Given the description of an element on the screen output the (x, y) to click on. 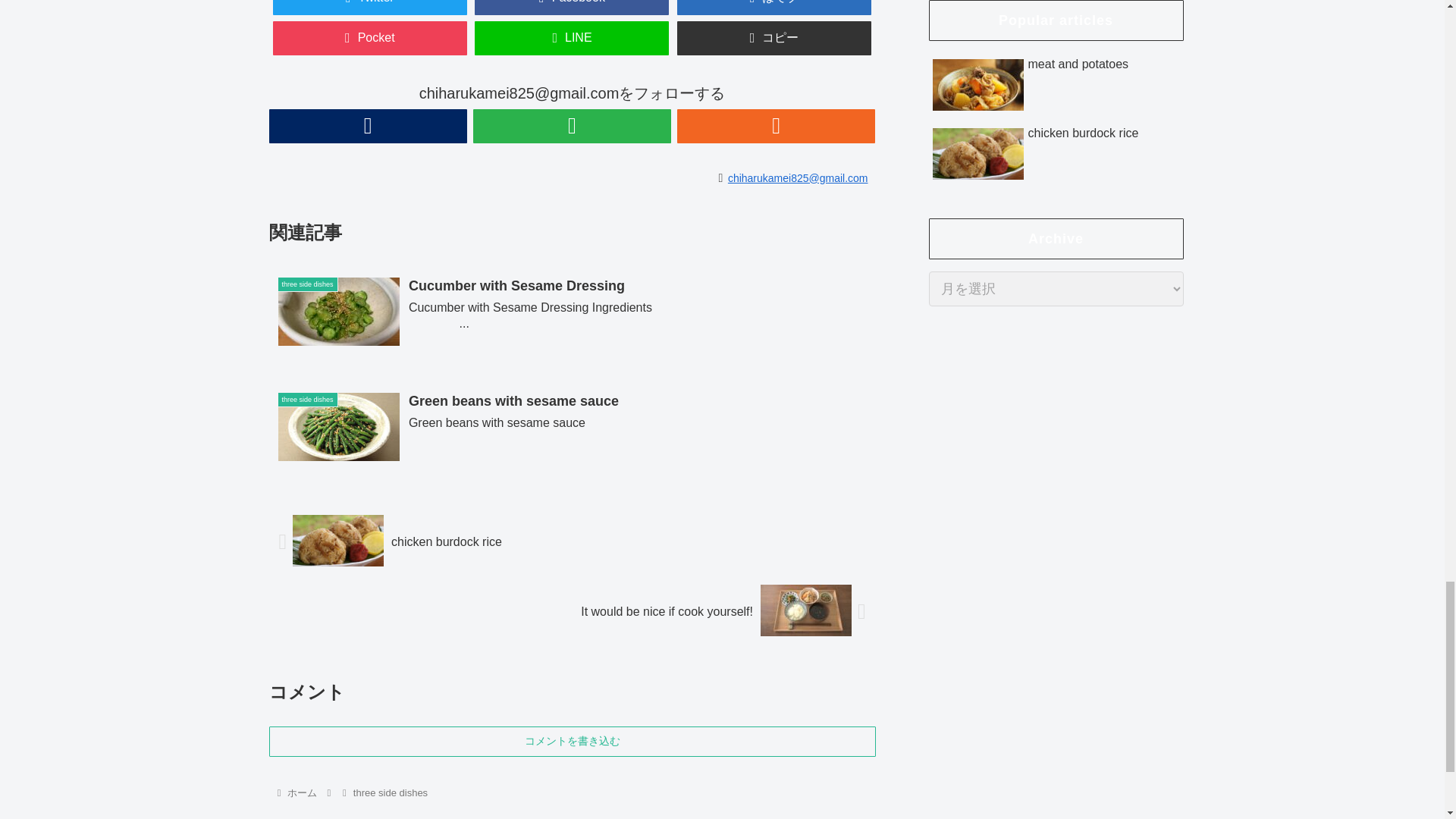
Pocket (370, 38)
It would be nice if cook yourself! (571, 612)
Facebook (571, 7)
meat and potatoes (773, 7)
Twitter (370, 7)
three side dishes (389, 792)
It would be nice if cook yourself! (571, 612)
Cucumber with Sesame Dressing (571, 314)
chicken burdock rice (571, 541)
Green beans with sesame sauce (571, 429)
LINE (571, 38)
chicken burdock rice (571, 541)
